Given the description of an element on the screen output the (x, y) to click on. 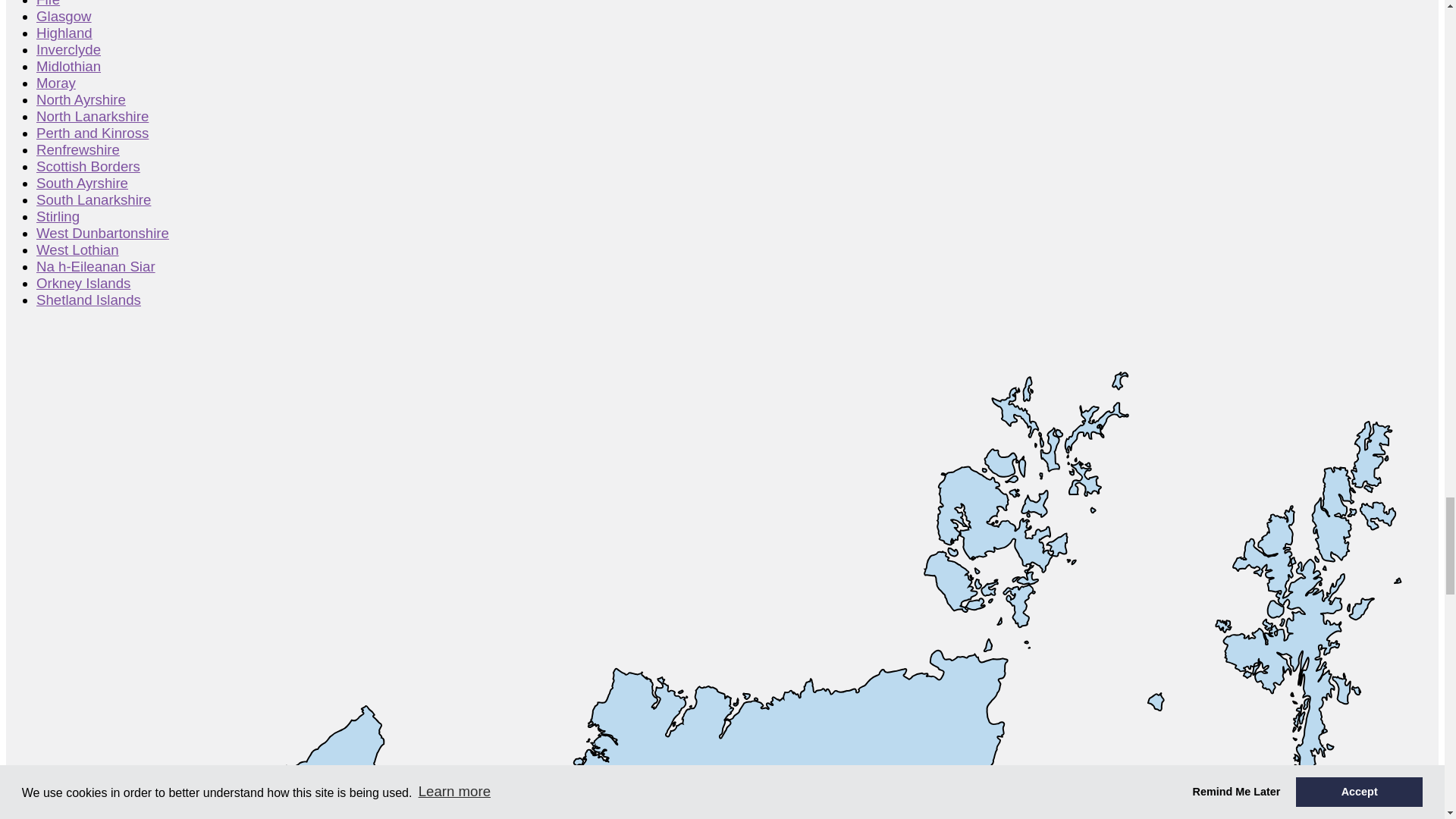
Highland (627, 734)
